Given the description of an element on the screen output the (x, y) to click on. 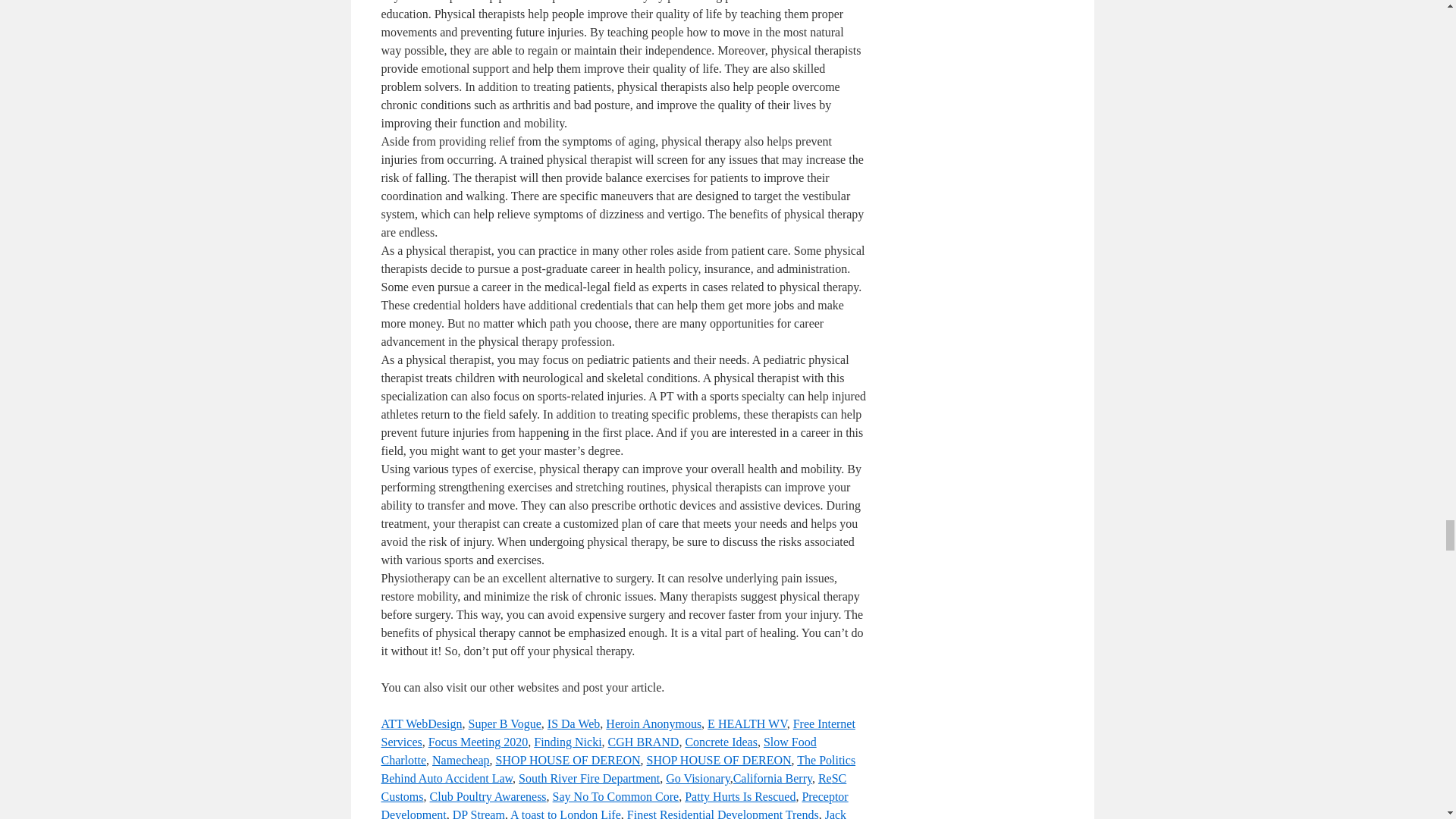
Namecheap (460, 759)
Slow Food Charlotte (597, 750)
South River Fire Department (588, 778)
Focus Meeting 2020 (478, 741)
Concrete Ideas (720, 741)
California Berry (772, 778)
IS Da Web (573, 723)
CGH BRAND (643, 741)
Go Visionary (697, 778)
Heroin Anonymous (653, 723)
